Given the description of an element on the screen output the (x, y) to click on. 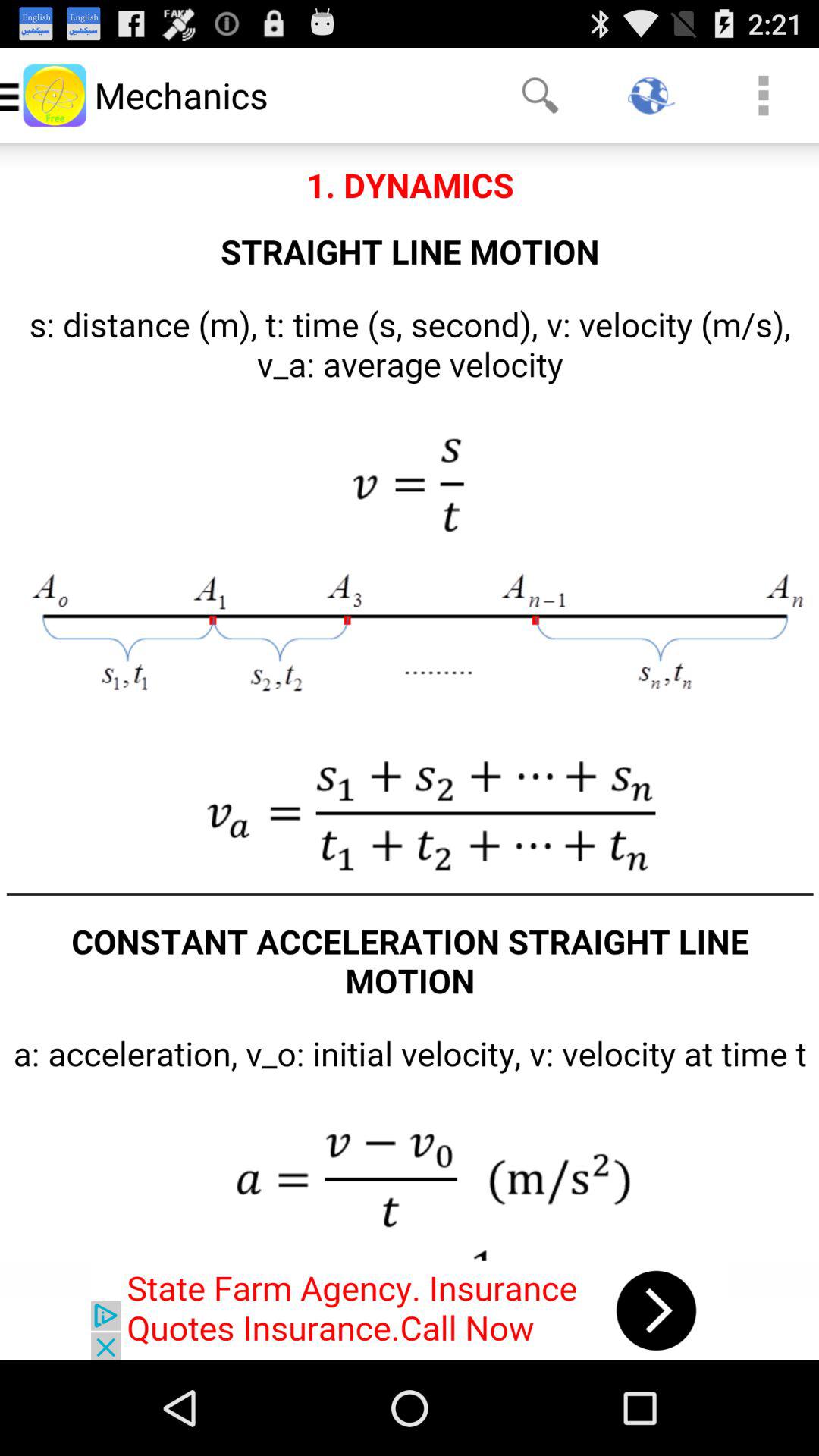
open advertisement hyperlink (409, 1310)
